Given the description of an element on the screen output the (x, y) to click on. 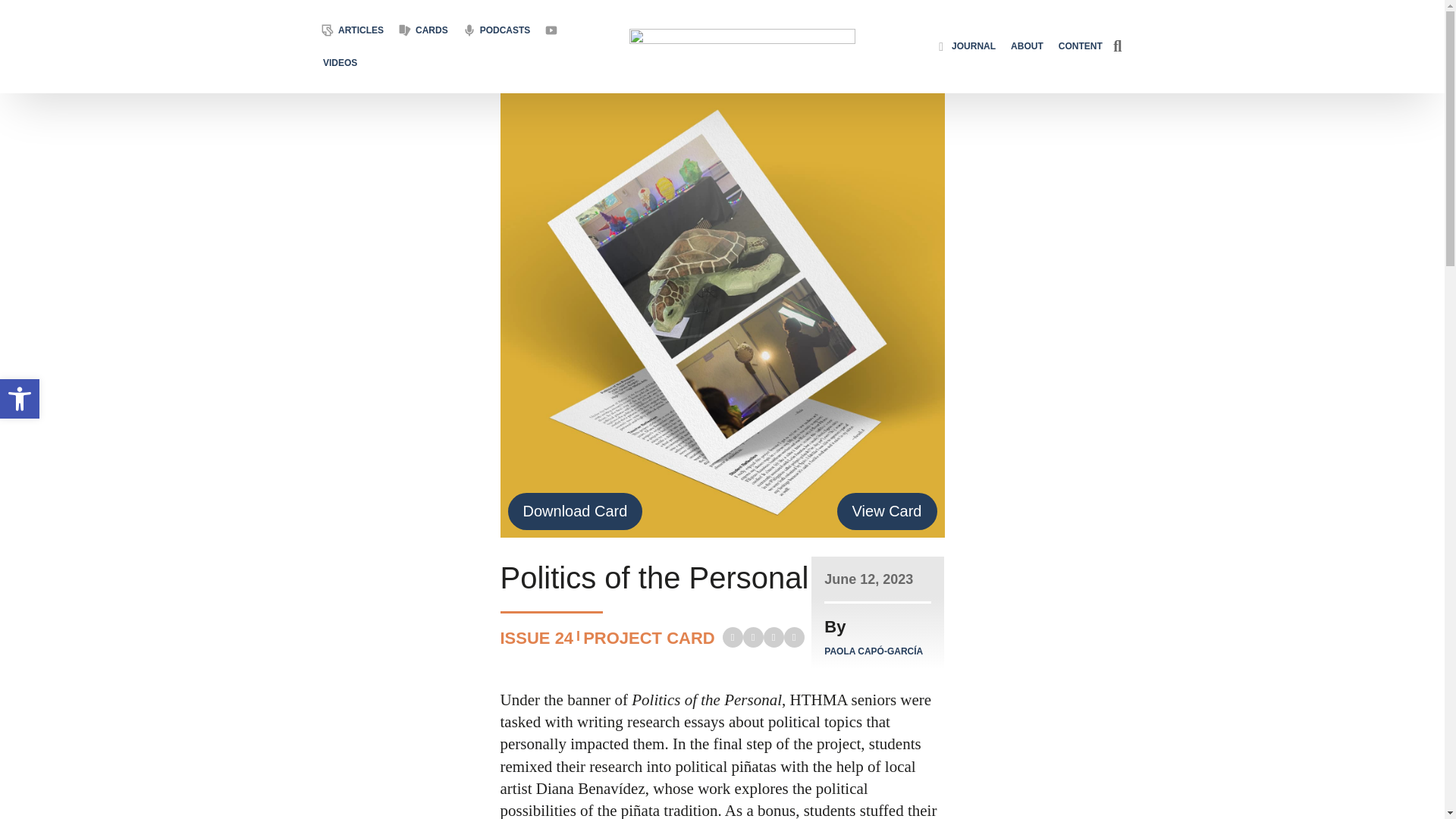
JOURNAL (973, 41)
VIDEOS (339, 47)
Accessibility Tools (19, 398)
CONTENT (1080, 46)
Accessibility Tools (19, 398)
PODCASTS (505, 8)
ABOUT (1026, 45)
